Given the description of an element on the screen output the (x, y) to click on. 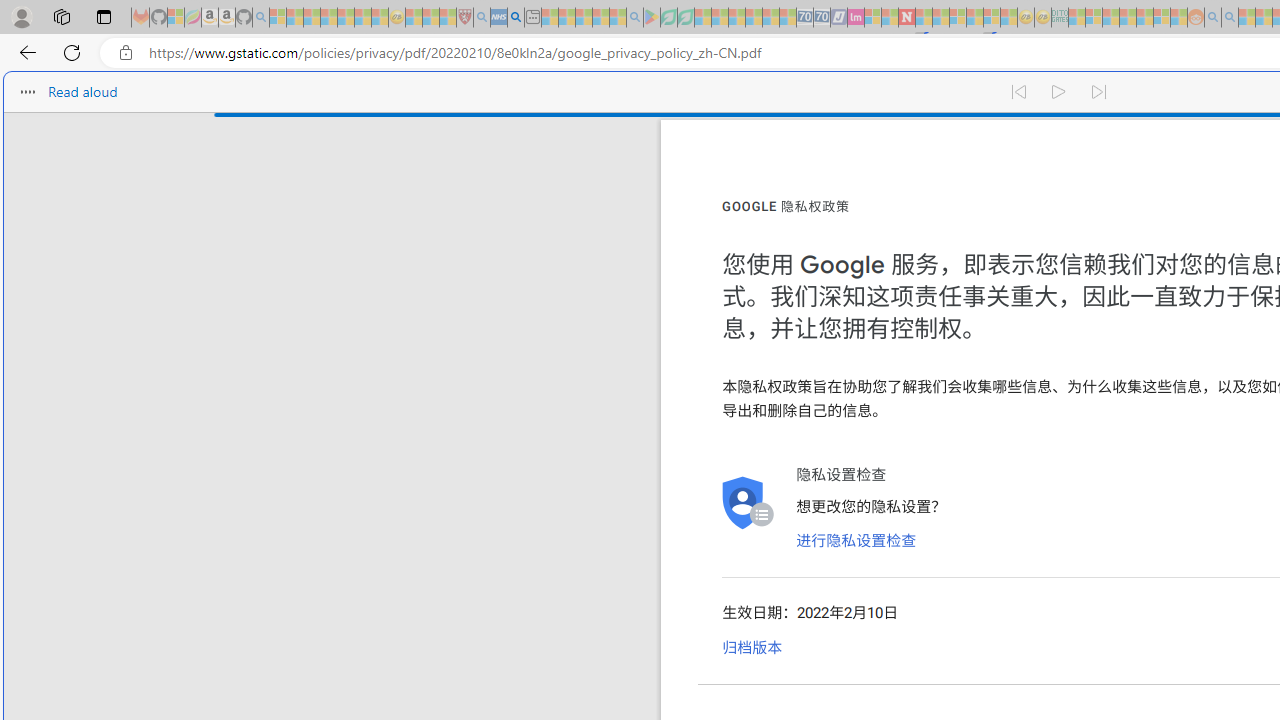
Jobs - lastminute.com Investor Portal - Sleeping (855, 17)
Read previous paragraph (1018, 92)
